Given the description of an element on the screen output the (x, y) to click on. 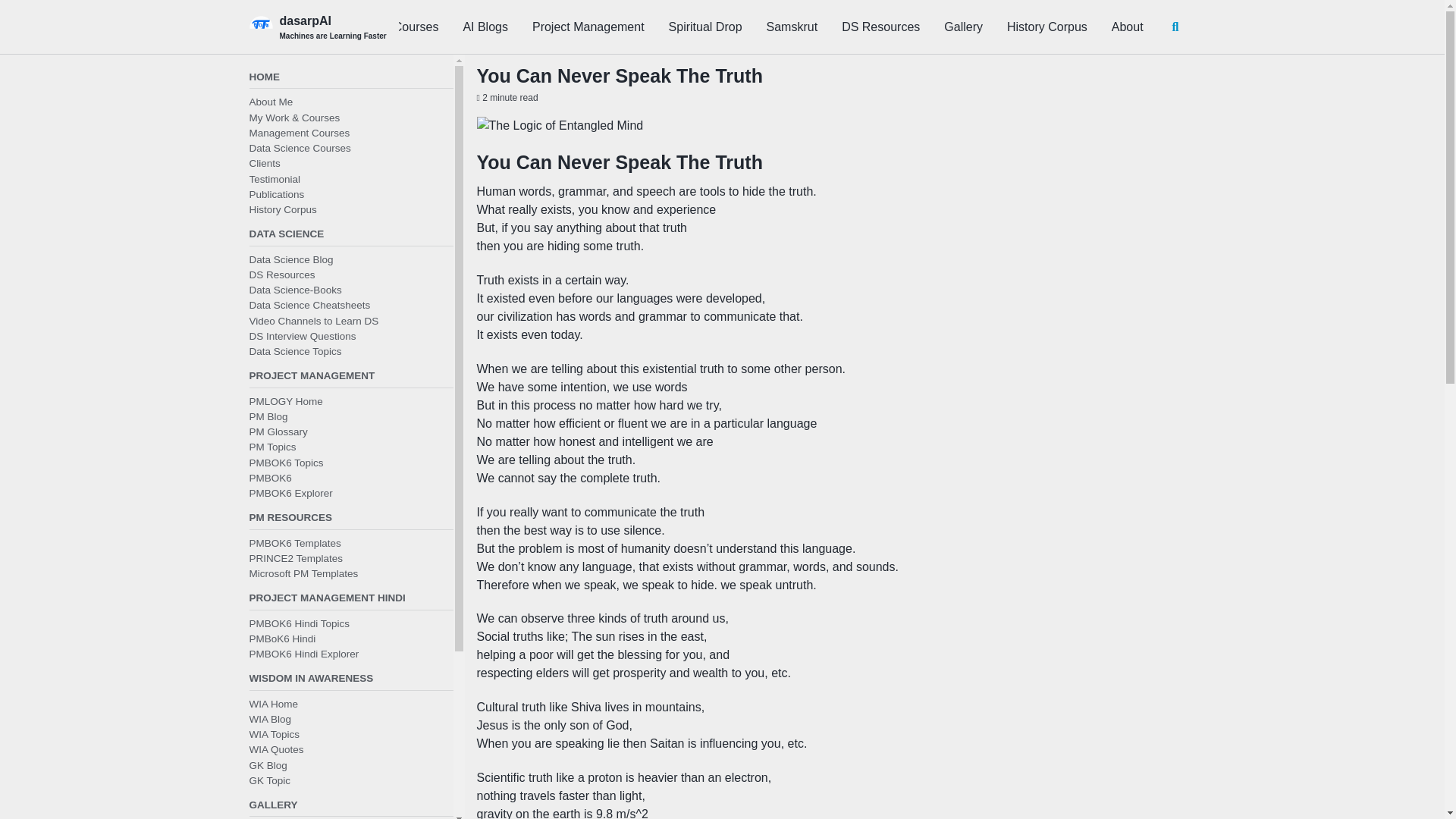
Gallery (962, 27)
History Corpus (1047, 27)
History Corpus (281, 209)
Project Management (588, 27)
Publications (276, 194)
DS Resources (880, 27)
Samskrut (792, 27)
About Me (270, 101)
Testimonial (273, 178)
PMBOK6 Topics (285, 461)
AI Blogs (485, 27)
Data Science Topics (294, 351)
Spiritual Drop (705, 27)
PM Glossary (277, 431)
Management Courses (298, 132)
